Given the description of an element on the screen output the (x, y) to click on. 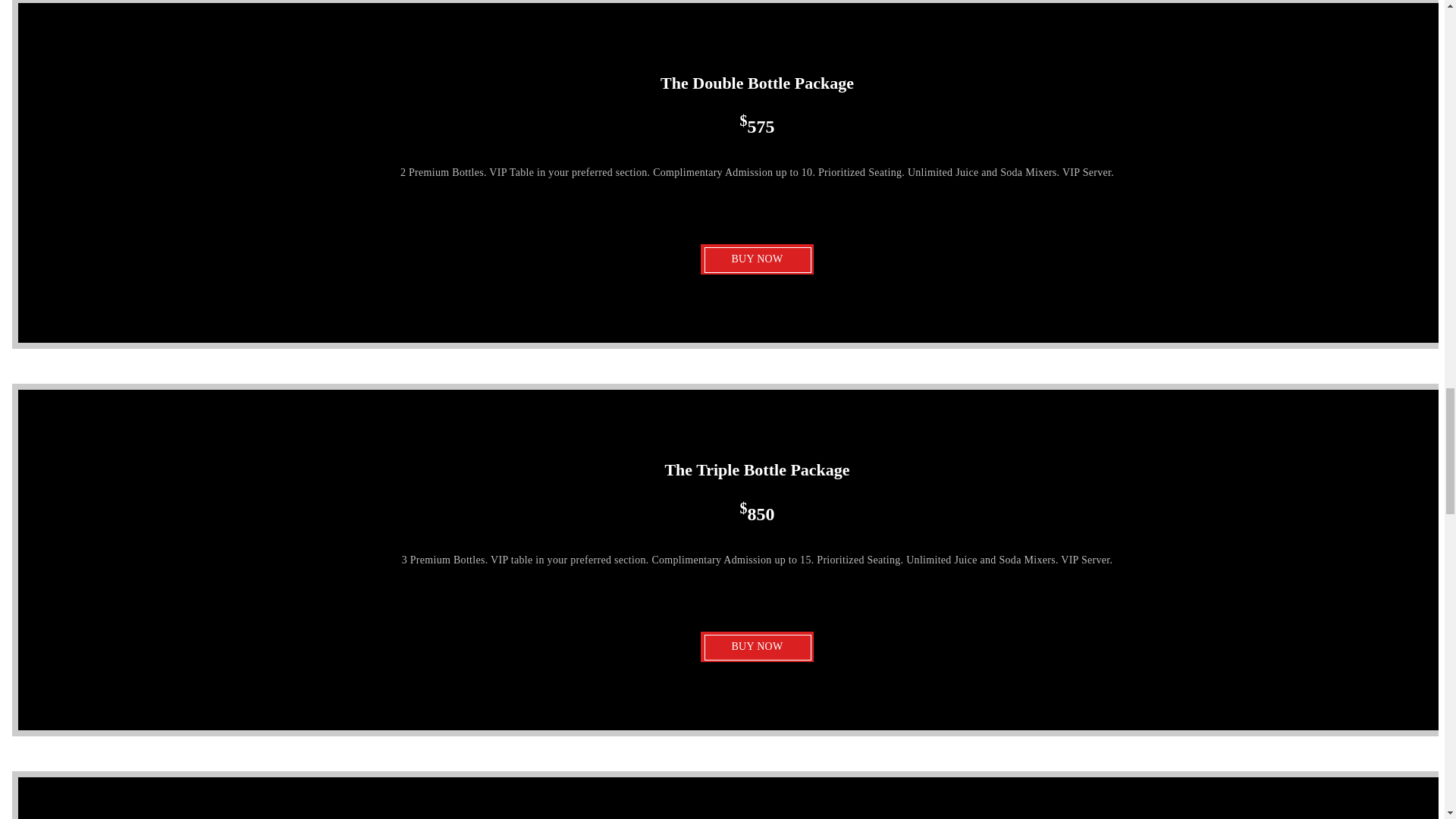
Buy Now (756, 259)
Buy Now (756, 646)
BUY NOW (756, 259)
BUY NOW (756, 646)
